Given the description of an element on the screen output the (x, y) to click on. 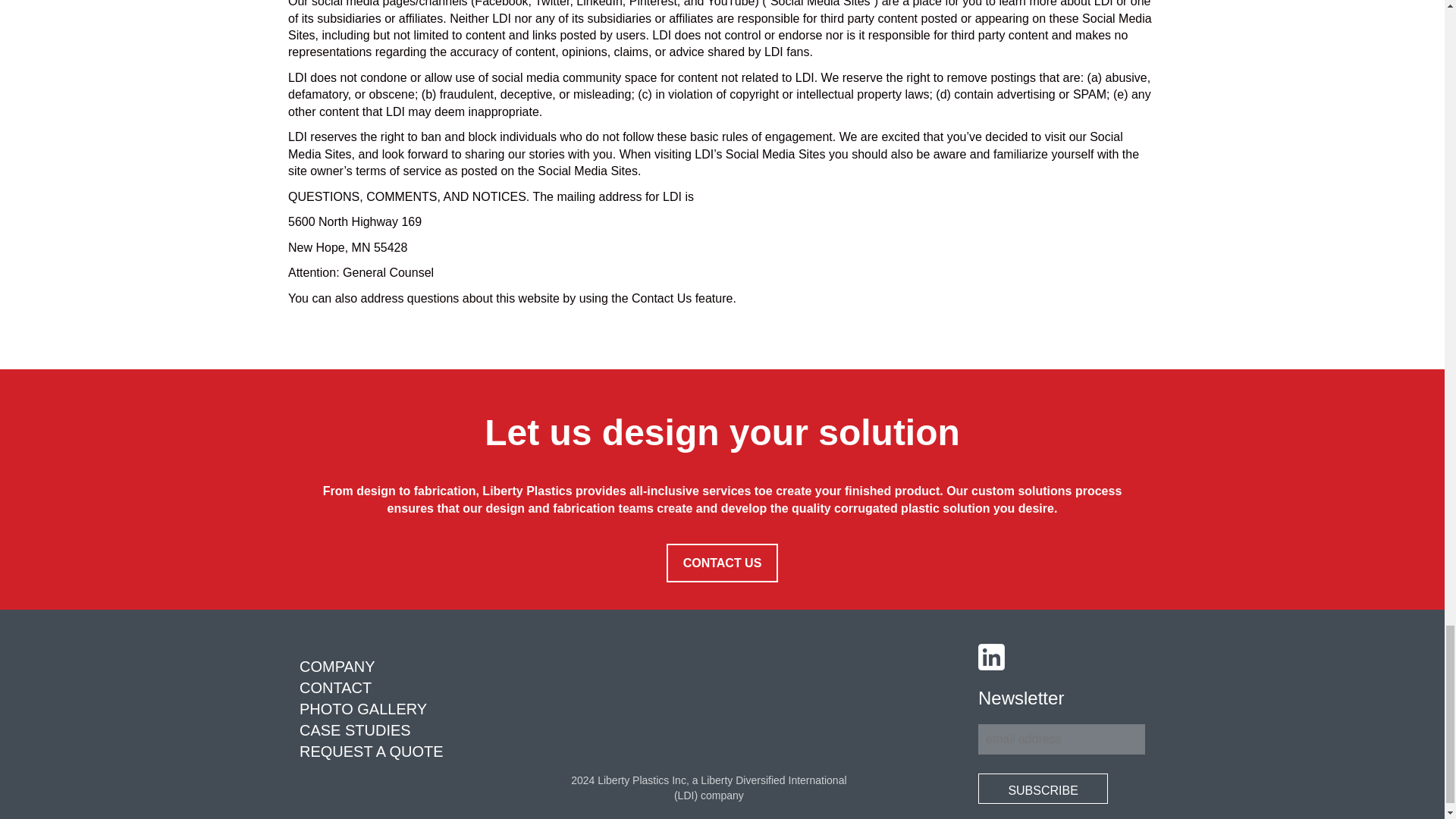
txtEmail (1061, 738)
Subscribe (1043, 788)
signup (1043, 788)
